Given the description of an element on the screen output the (x, y) to click on. 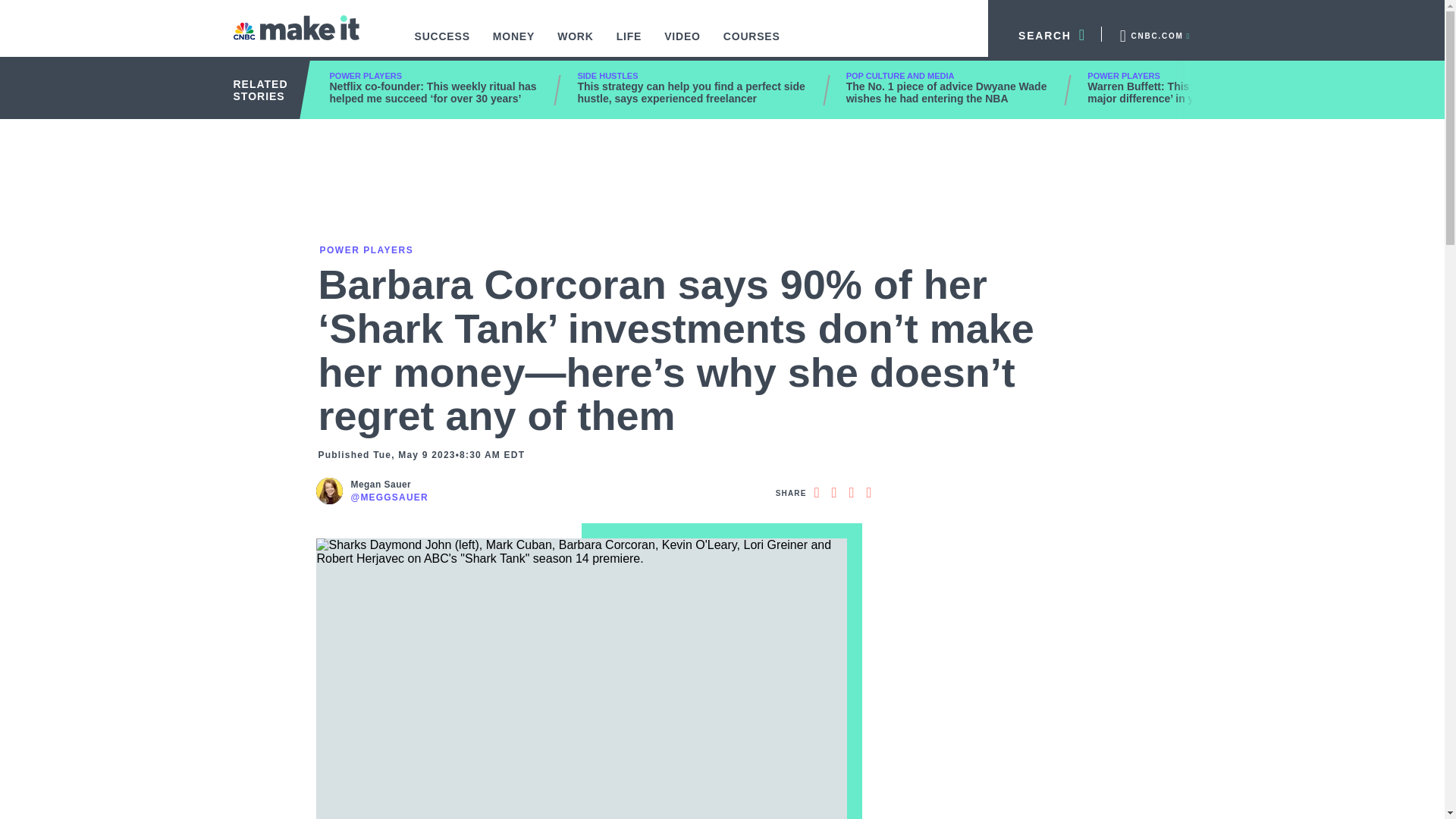
WORK (575, 44)
CNBC.COM (1153, 33)
MONEY (513, 44)
COURSES (751, 44)
LIFE (629, 44)
SEARCH (1045, 33)
SUCCESS (442, 44)
VIDEO (681, 44)
